Given the description of an element on the screen output the (x, y) to click on. 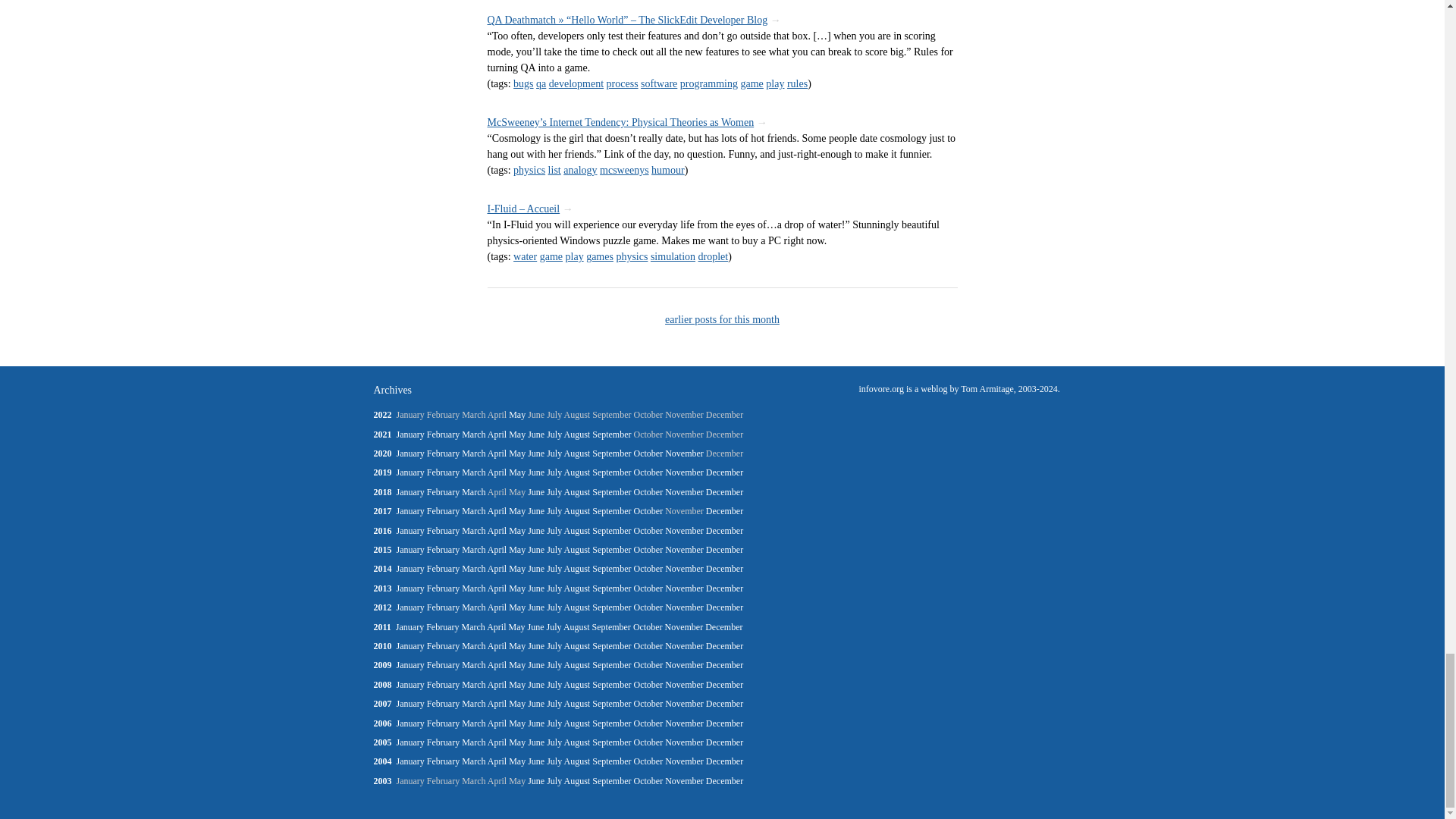
June 2021 (535, 434)
July 2020 (554, 452)
February 2020 (443, 452)
April 2021 (496, 434)
May 2021 (516, 434)
March 2021 (472, 434)
April 2020 (496, 452)
July 2021 (554, 434)
August 2021 (577, 434)
May 2022 (516, 414)
